Given the description of an element on the screen output the (x, y) to click on. 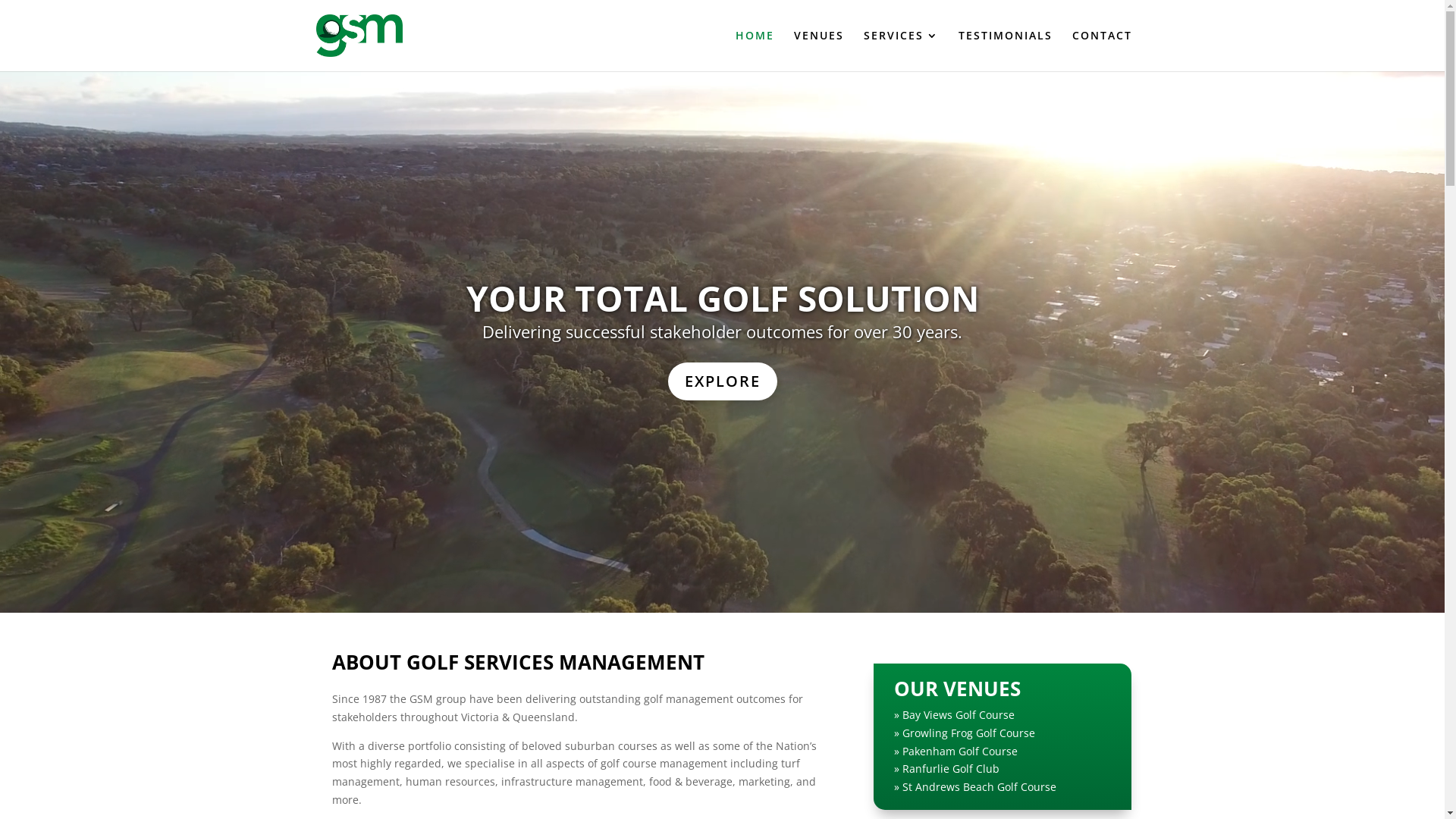
Bay Views Golf Course Element type: text (958, 714)
Pakenham Golf Course Element type: text (959, 750)
Ranfurlie Golf Club Element type: text (950, 768)
HOME Element type: text (754, 50)
St Andrews Beach Golf Course Element type: text (979, 786)
EXPLORE Element type: text (721, 381)
SERVICES Element type: text (900, 50)
Growling Frog Golf Course Element type: text (968, 732)
YOUR TOTAL GOLF SOLUTION Element type: text (721, 297)
TESTIMONIALS Element type: text (1005, 50)
VENUES Element type: text (818, 50)
CONTACT Element type: text (1102, 50)
